Given the description of an element on the screen output the (x, y) to click on. 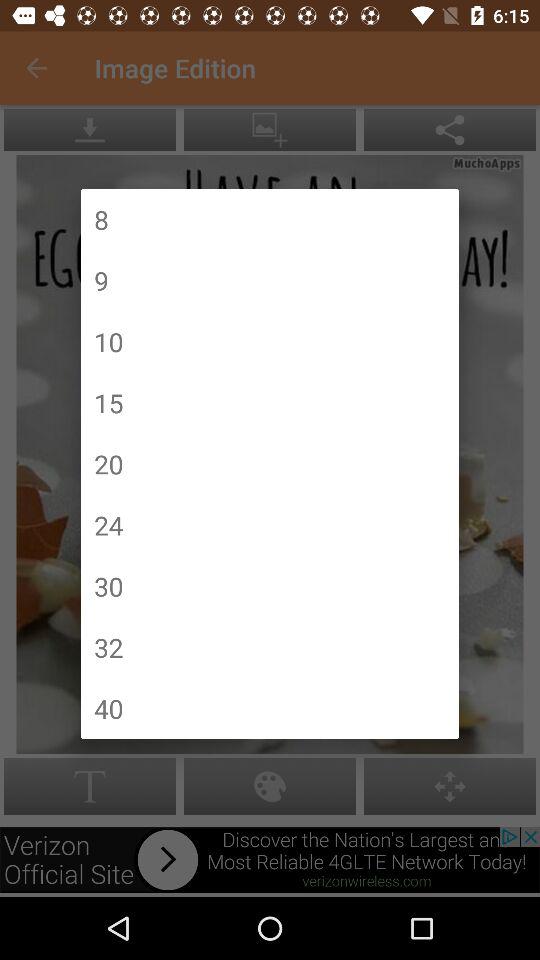
choose 40 (108, 708)
